Given the description of an element on the screen output the (x, y) to click on. 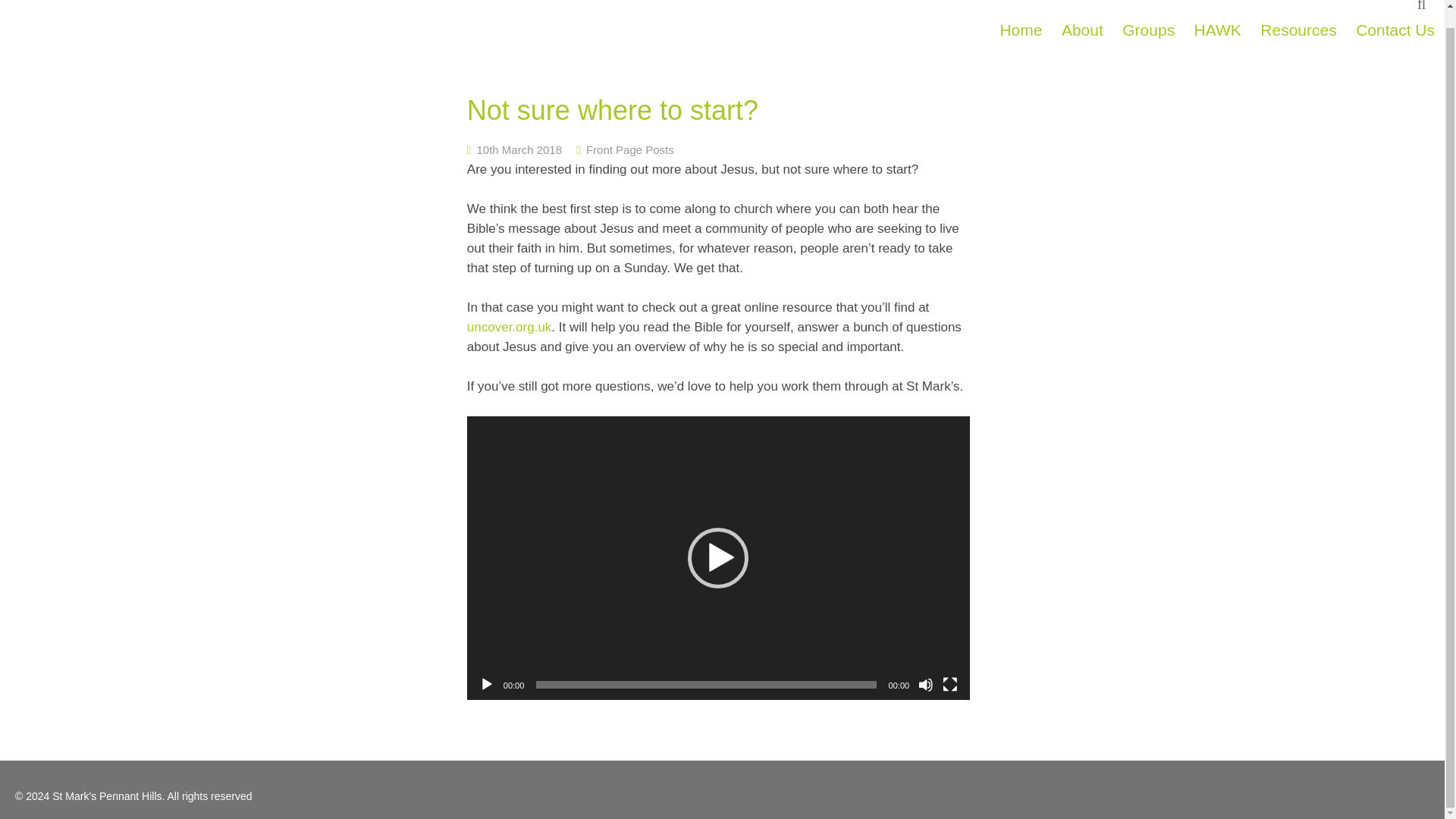
Resources (1297, 29)
Fullscreen (950, 684)
uncover.org.uk (509, 327)
Home (1020, 29)
Search (1424, 5)
Groups (1148, 29)
HAWK (1217, 29)
Search (1424, 5)
Mute (925, 684)
Play (487, 684)
Contact Us (1395, 29)
About (1082, 29)
Search (1424, 5)
